Given the description of an element on the screen output the (x, y) to click on. 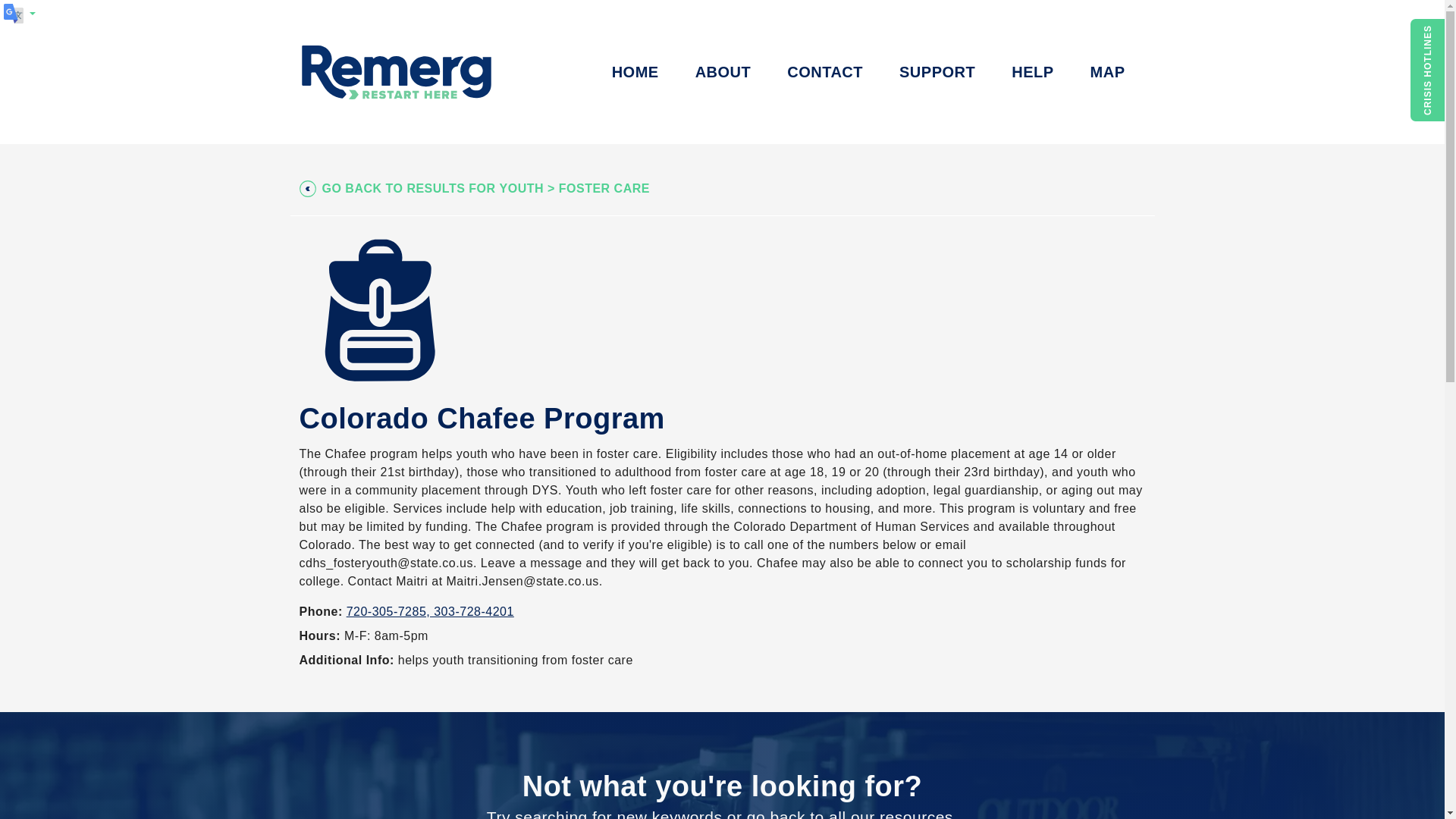
ABOUT (723, 71)
HOME (635, 71)
CONTACT (824, 71)
720-305-7285, 303-728-4201 (429, 611)
SUPPORT (936, 71)
HELP (1031, 71)
MAP (1106, 71)
